Given the description of an element on the screen output the (x, y) to click on. 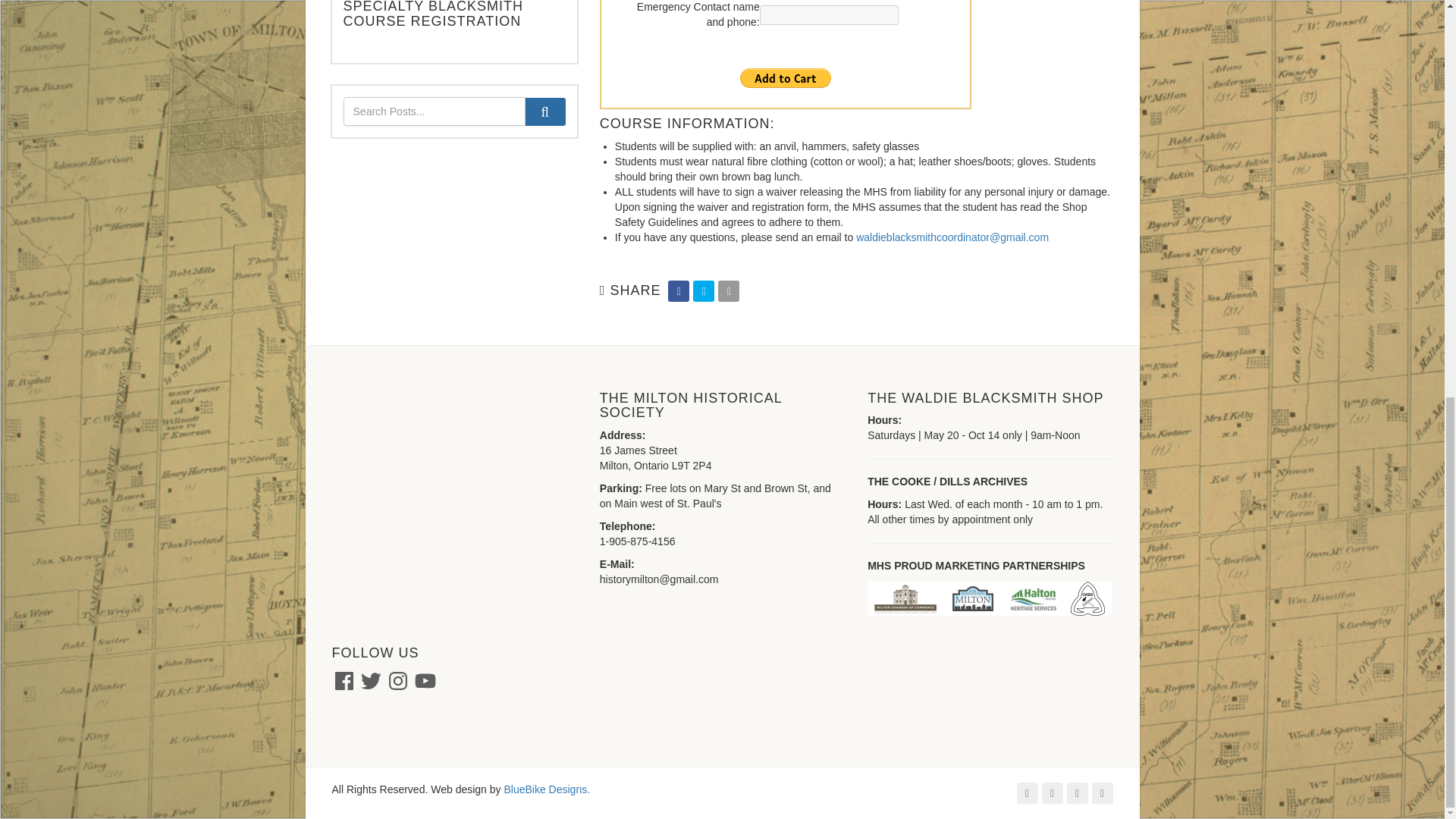
Tweet (703, 291)
Specialty Blacksmith Course Registration (432, 14)
Share on Facebook (678, 291)
Email (728, 291)
